Given the description of an element on the screen output the (x, y) to click on. 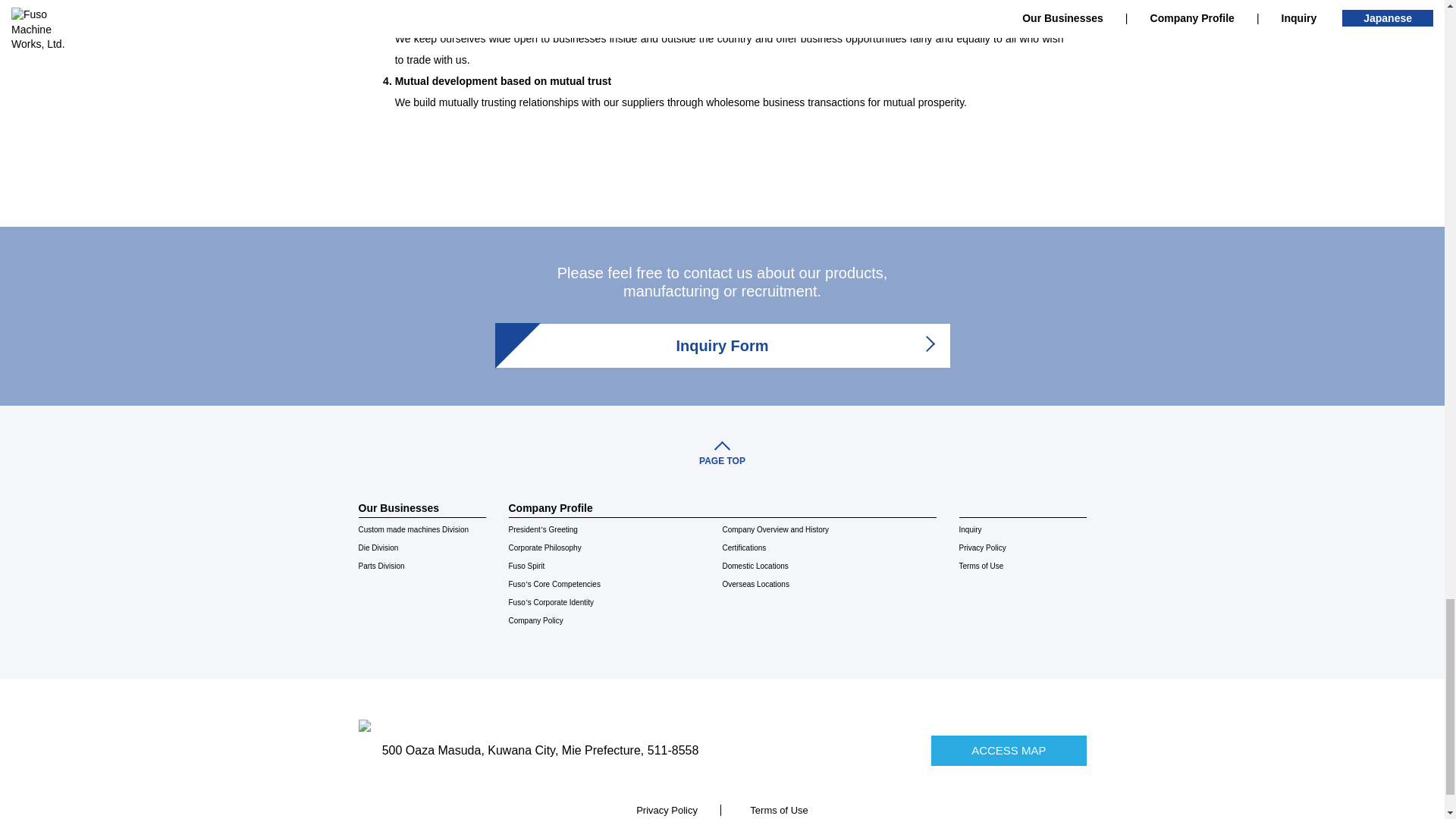
Terms of Use (1022, 566)
Corporate Philosophy (615, 547)
Die Division (421, 547)
Overseas Locations (829, 584)
Company Overview and History (829, 529)
Fuso Spirit (615, 566)
Terms of Use (778, 809)
Domestic Locations (829, 566)
Custom made machines Division (421, 529)
Inquiry (1022, 529)
Company Policy (615, 620)
Parts Division (421, 566)
ACCESS MAP (1008, 750)
Privacy Policy (666, 809)
PAGE TOP (722, 447)
